Given the description of an element on the screen output the (x, y) to click on. 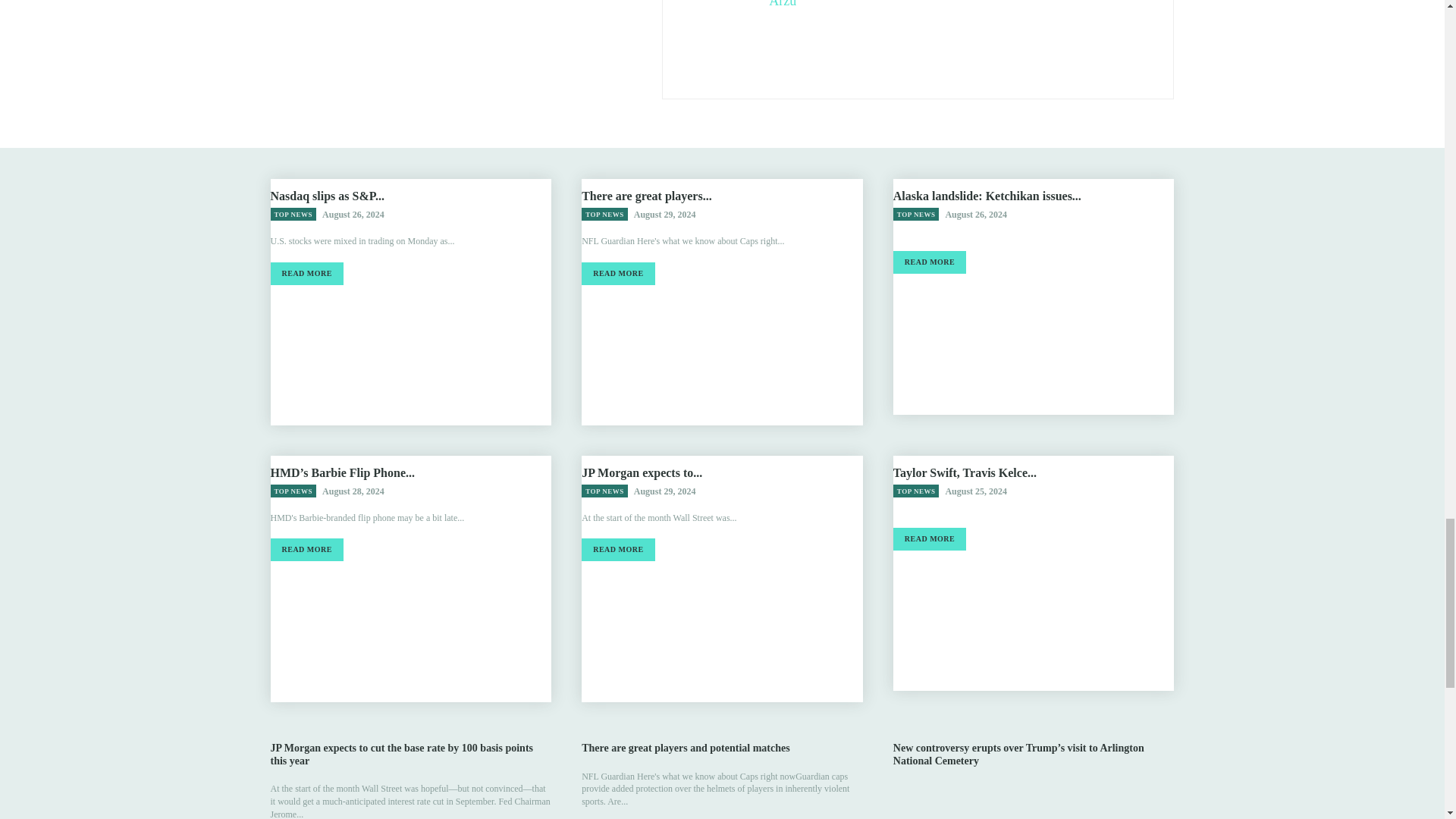
TOP NEWS (916, 214)
READ MORE (929, 261)
Arzu (782, 4)
JP Morgan expects to... (640, 472)
Read more (616, 273)
There are great players... (645, 195)
READ MORE (305, 273)
TOP NEWS (292, 490)
